Given the description of an element on the screen output the (x, y) to click on. 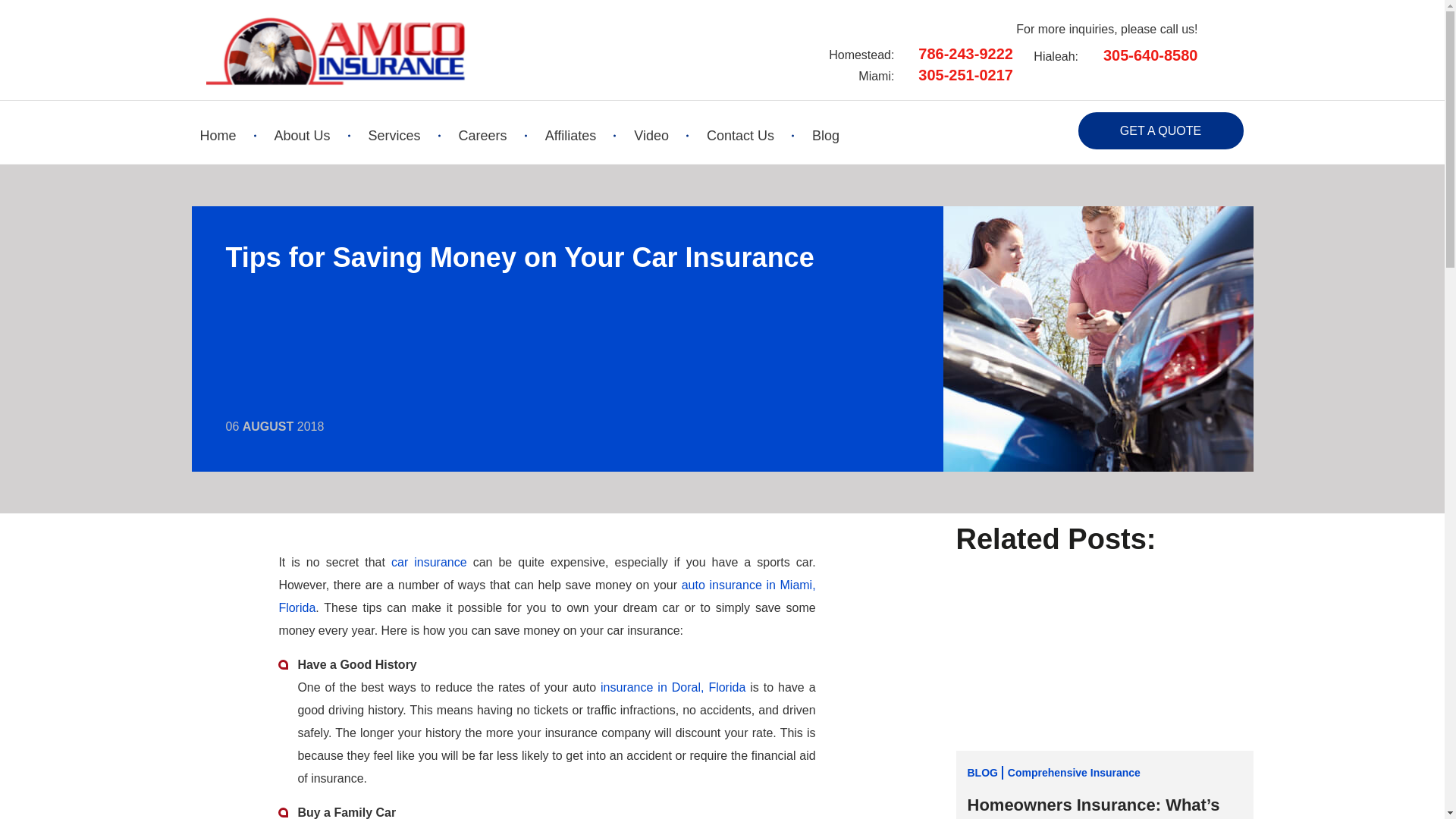
Affiliates (570, 135)
Services (672, 686)
insurance in Doral, Florida (672, 686)
GET A QUOTE (1160, 130)
Contact Us (740, 135)
Video (650, 135)
Blog (826, 135)
Services (394, 135)
auto insurance in Miami, Florida (546, 596)
Careers (482, 135)
